Given the description of an element on the screen output the (x, y) to click on. 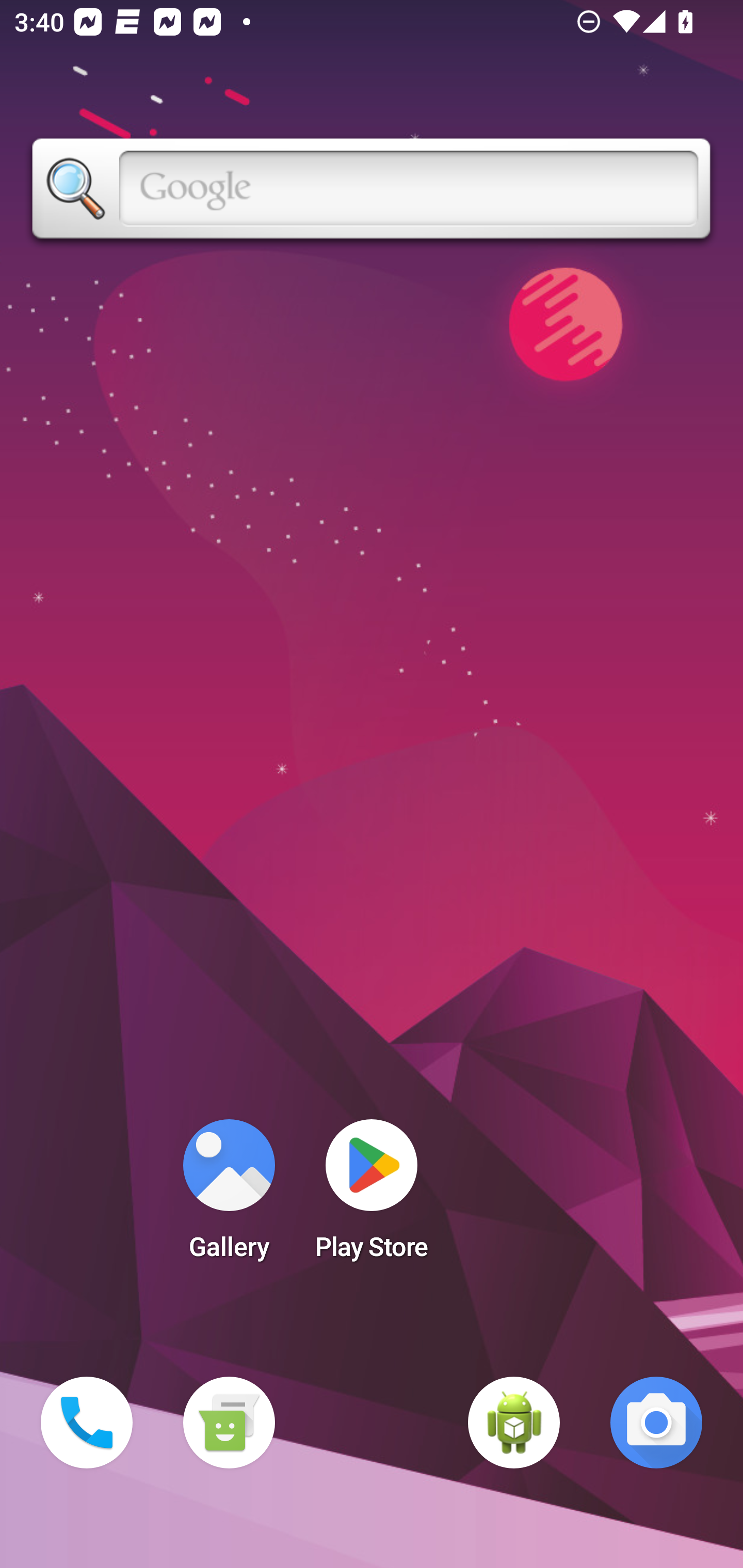
Gallery (228, 1195)
Play Store (371, 1195)
Phone (86, 1422)
Messaging (228, 1422)
WebView Browser Tester (513, 1422)
Camera (656, 1422)
